Given the description of an element on the screen output the (x, y) to click on. 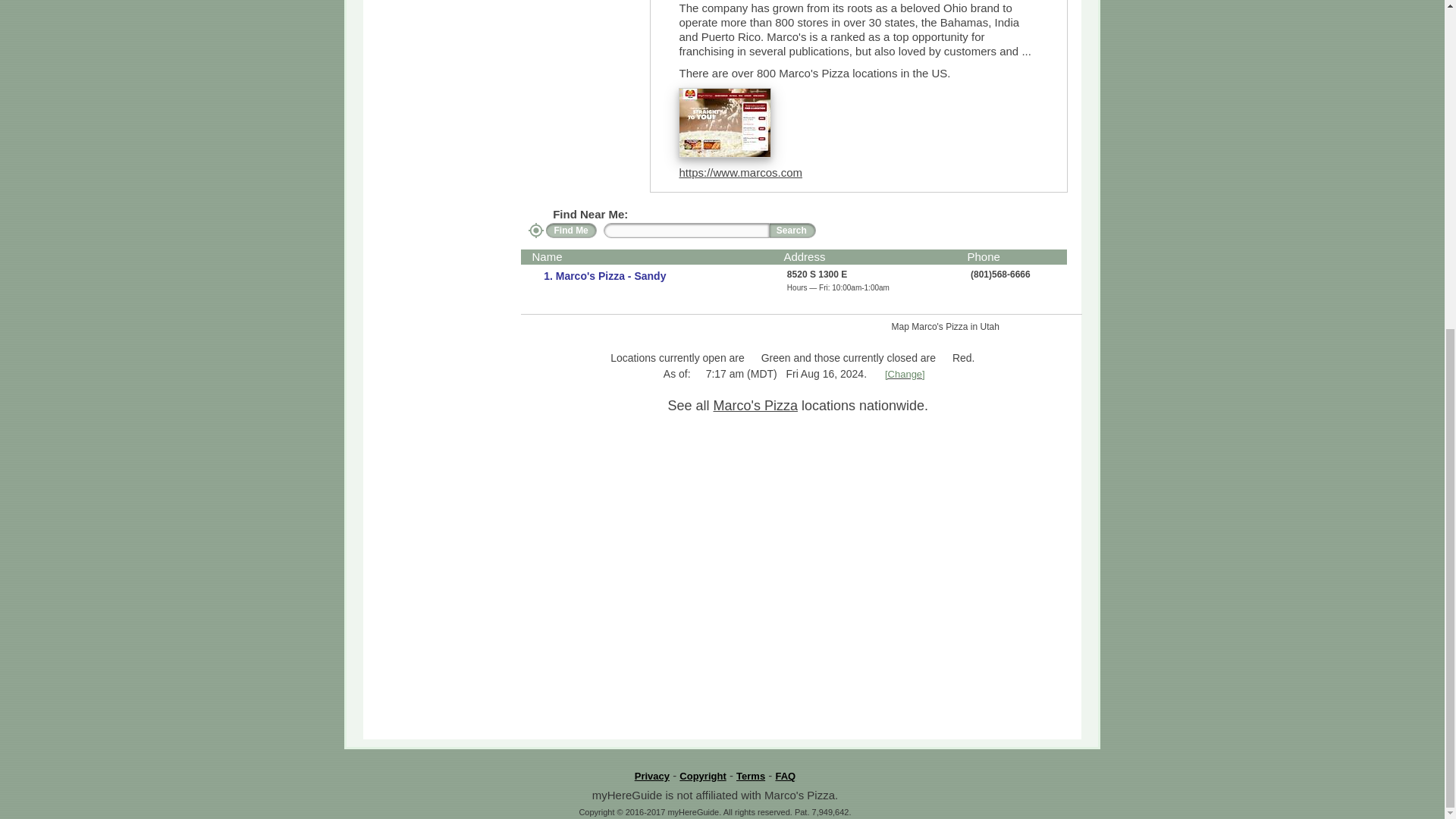
Advertisement (505, 58)
 Search (792, 230)
Privacy (651, 776)
Marco's Pizza (754, 405)
Map Marco's Pizza in Utah (987, 326)
Copyright (702, 776)
Marco's Pizza - Sandy (608, 275)
FAQ (784, 776)
Find Me (571, 230)
Terms (750, 776)
